Given the description of an element on the screen output the (x, y) to click on. 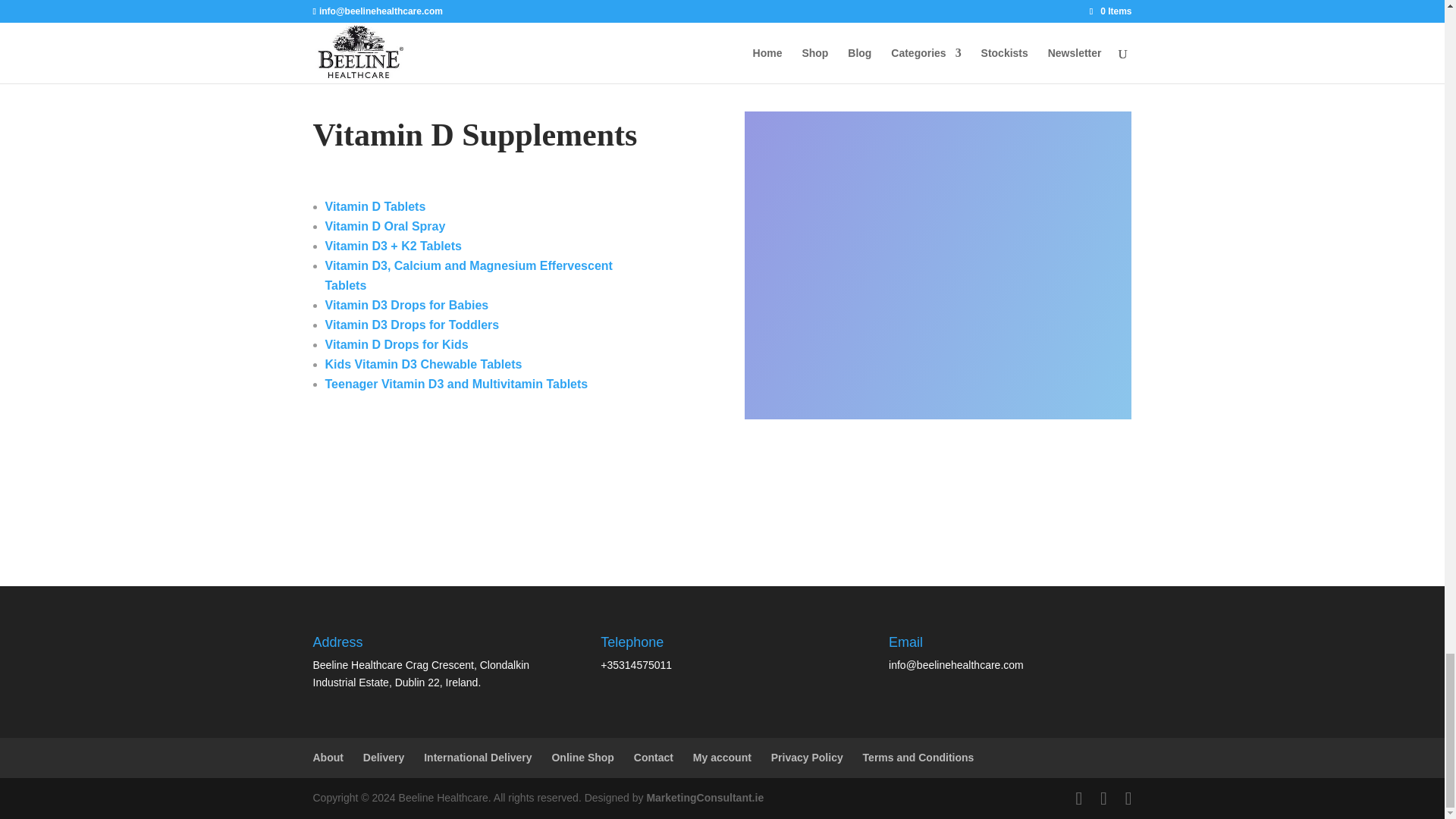
Vitamin D Tablets (374, 205)
Vitamin D Oral Spray (384, 226)
Vitamin D3, Calcium and Magnesium Effervescent Tablets (467, 275)
